Given the description of an element on the screen output the (x, y) to click on. 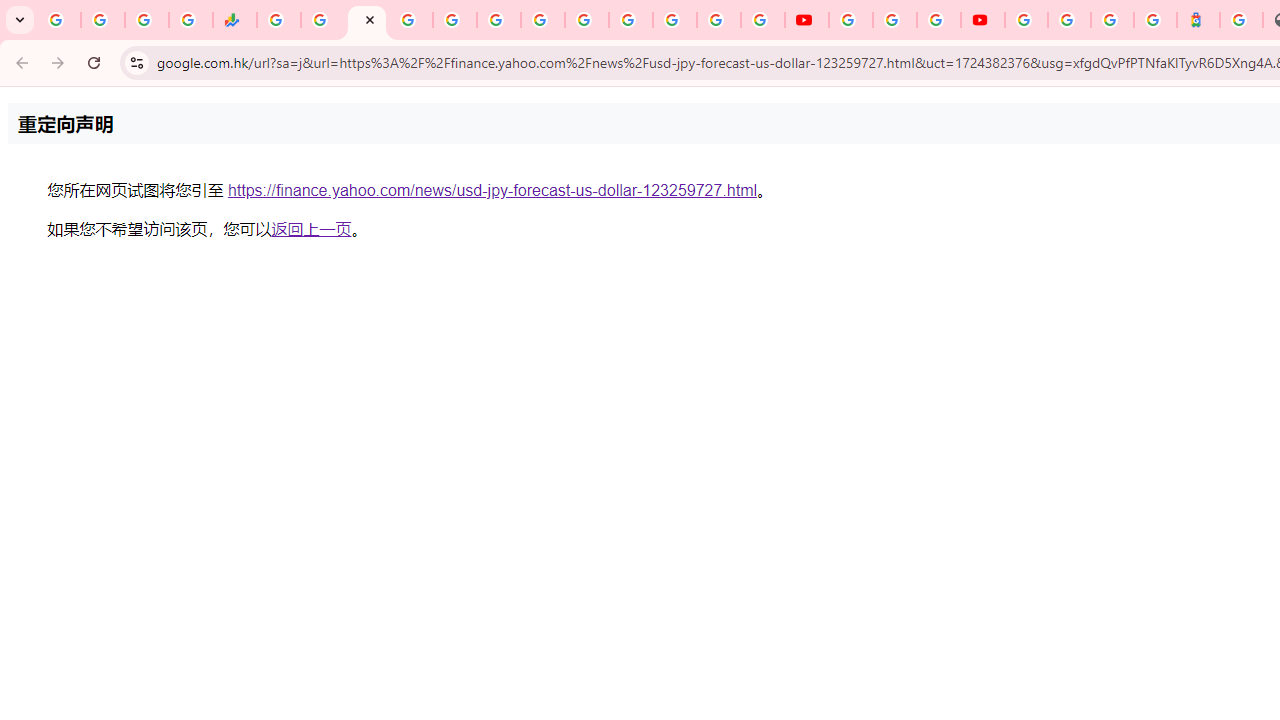
Google Account Help (894, 20)
Sign in - Google Accounts (1069, 20)
Content Creator Programs & Opportunities - YouTube Creators (982, 20)
YouTube (850, 20)
YouTube (806, 20)
Sign in - Google Accounts (1026, 20)
Create your Google Account (938, 20)
Android TV Policies and Guidelines - Transparency Center (542, 20)
